Given the description of an element on the screen output the (x, y) to click on. 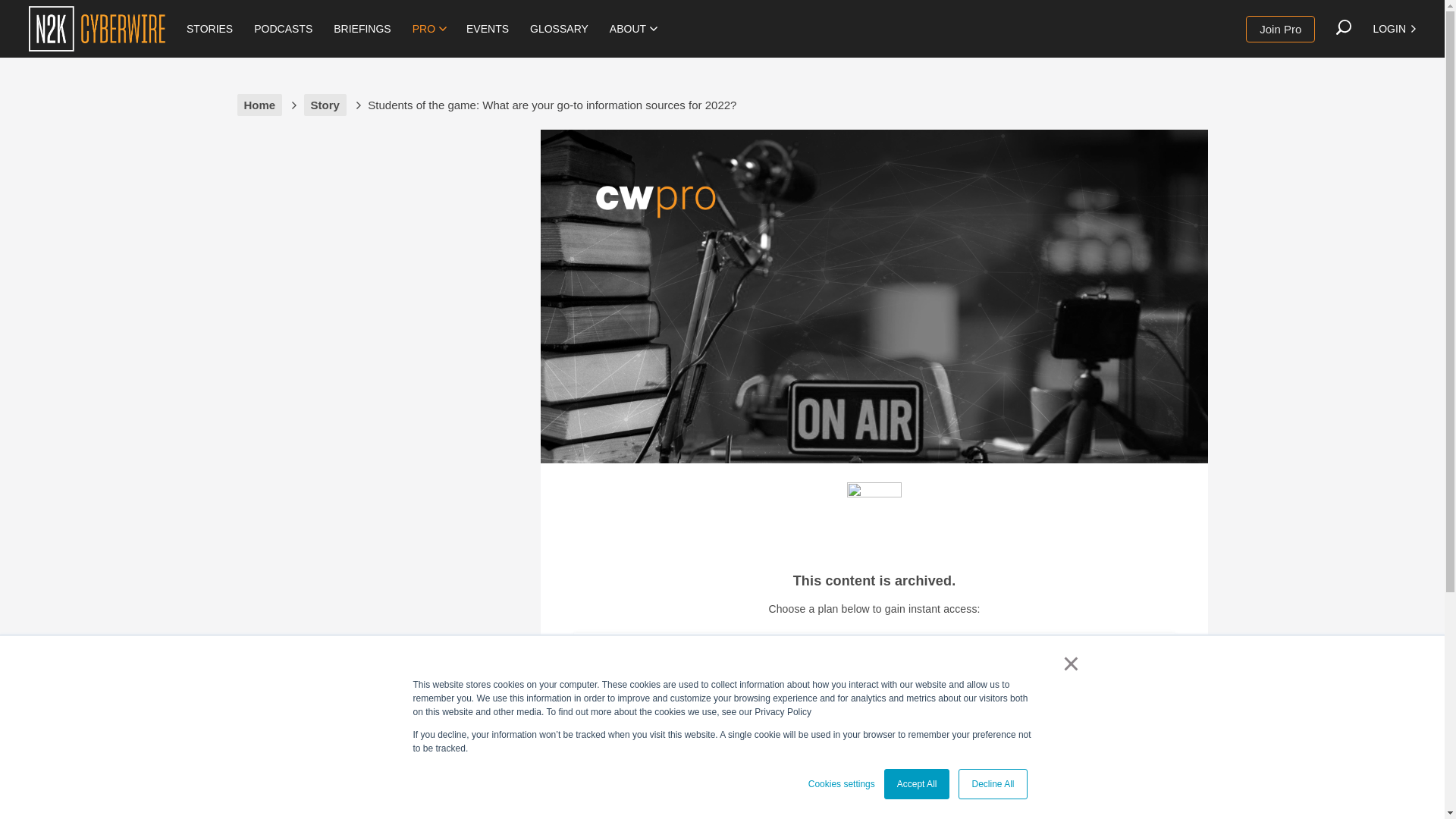
Search the site (1343, 27)
EVENTS (487, 28)
BRIEFINGS (362, 28)
STORIES (209, 28)
GLOSSARY (558, 28)
Join Pro (1280, 28)
Accept All (916, 784)
Decline All (992, 784)
PODCASTS (283, 28)
Cookies settings (841, 784)
